Given the description of an element on the screen output the (x, y) to click on. 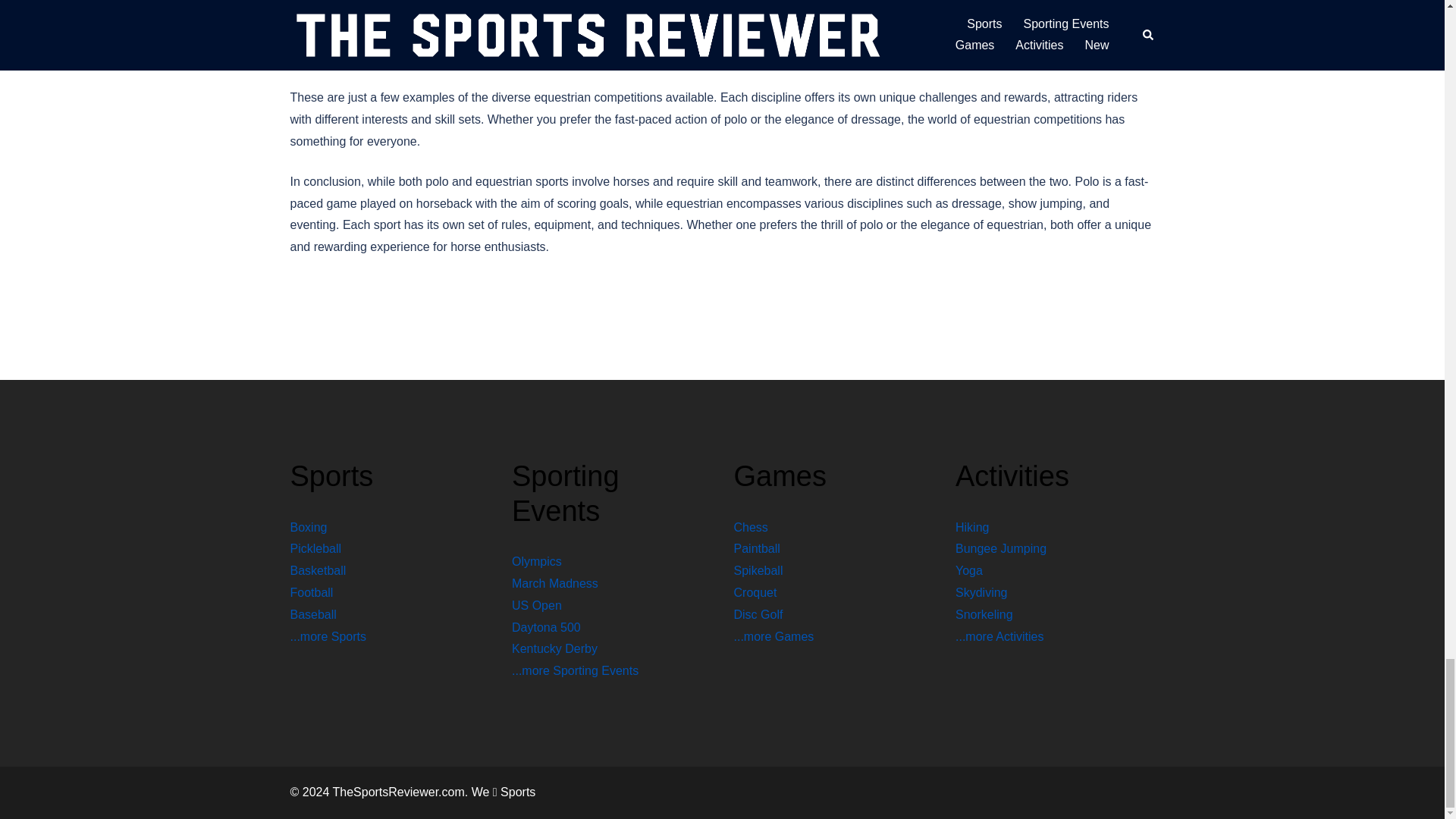
...more Activities (999, 635)
Paintball (756, 548)
Olympics (537, 561)
Kentucky Derby (554, 648)
...more Sporting Events (575, 670)
...more Games (773, 635)
Bungee Jumping (1000, 548)
Skydiving (981, 592)
Hiking (971, 526)
Basketball (317, 570)
Snorkeling (984, 614)
Spikeball (758, 570)
Disc Golf (758, 614)
...more Sports (327, 635)
Pickleball (314, 548)
